Given the description of an element on the screen output the (x, y) to click on. 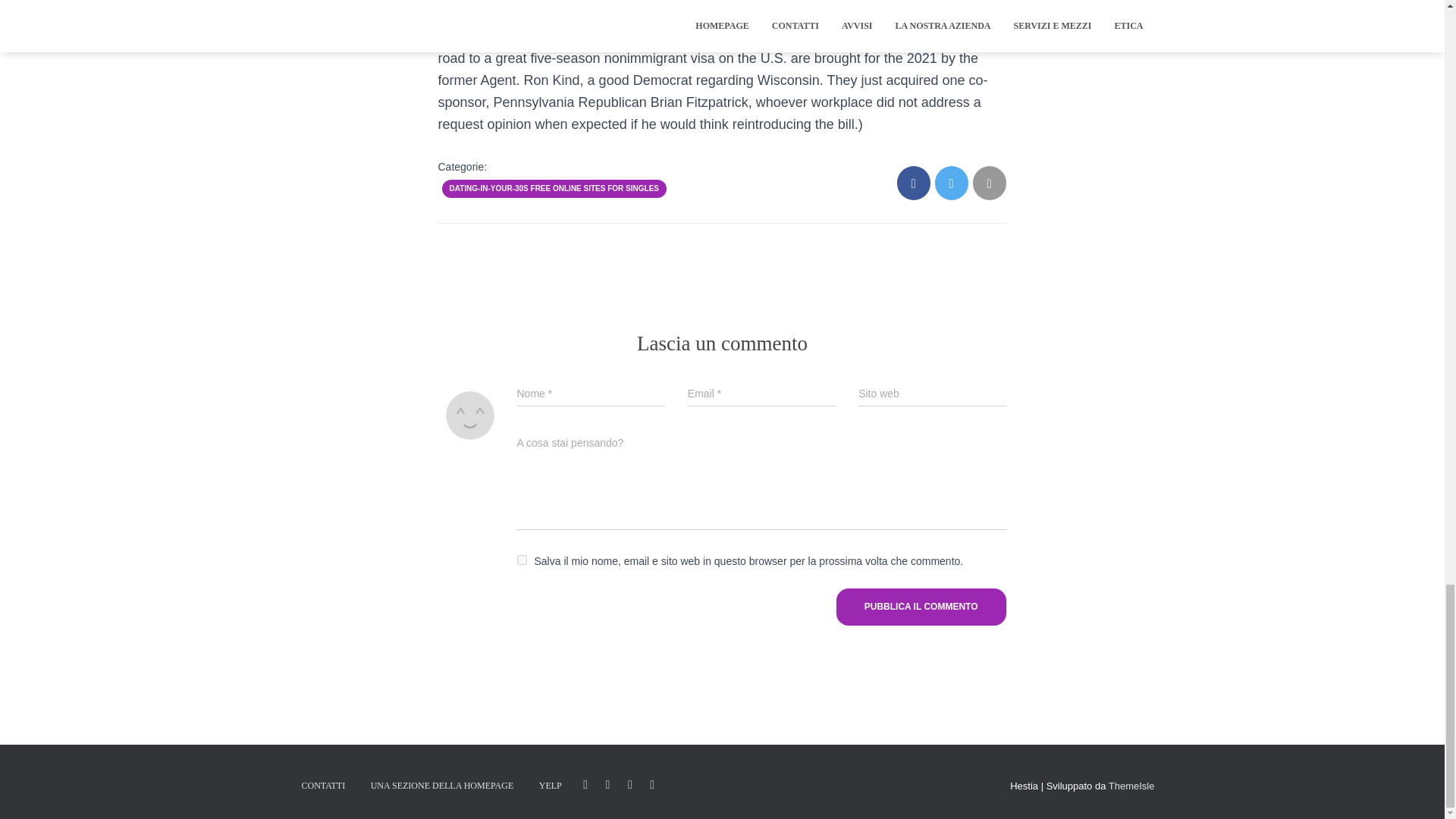
DATING-IN-YOUR-30S FREE ONLINE SITES FOR SINGLES (553, 188)
TWITTER (607, 784)
CONTATTI (322, 785)
FACEBOOK (585, 784)
UNA SEZIONE DELLA HOMEPAGE (442, 785)
INSTAGRAM (630, 784)
Pubblica il commento (920, 606)
yes (521, 560)
EMAIL (652, 784)
Pubblica il commento (920, 606)
YELP (550, 785)
ThemeIsle (1131, 785)
